Given the description of an element on the screen output the (x, y) to click on. 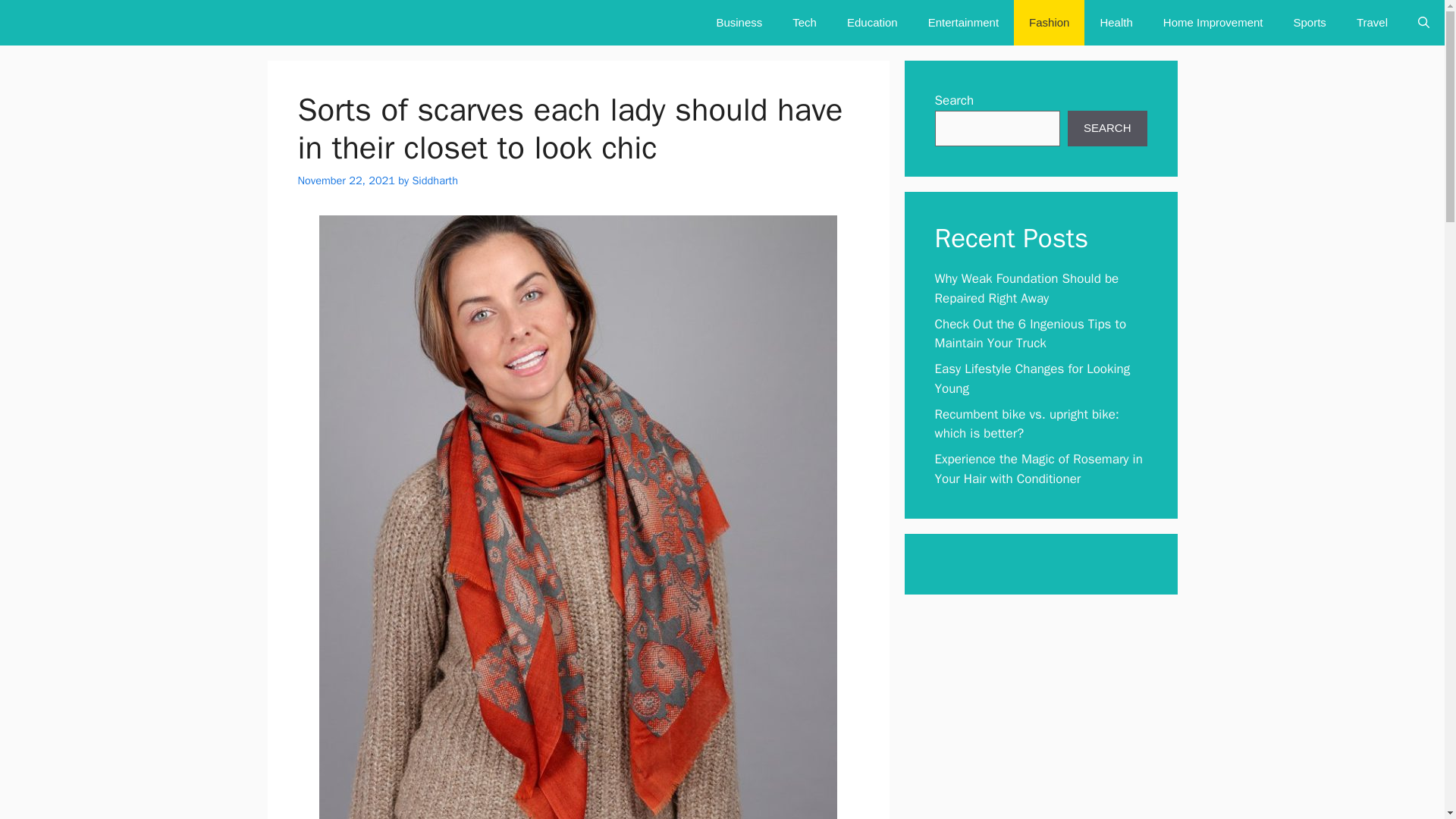
Sports (1309, 22)
Health (1115, 22)
Why Weak Foundation Should be Repaired Right Away (1026, 288)
SEARCH (1107, 128)
Siddharth (435, 180)
Home Improvement (1213, 22)
Easy Lifestyle Changes for Looking Young (1031, 378)
Business (738, 22)
Recumbent bike vs. upright bike: which is better? (1026, 424)
View all posts by Siddharth (435, 180)
Entertainment (962, 22)
Check Out the 6 Ingenious Tips to Maintain Your Truck (1029, 333)
Tech (804, 22)
Fashion (1048, 22)
